Given the description of an element on the screen output the (x, y) to click on. 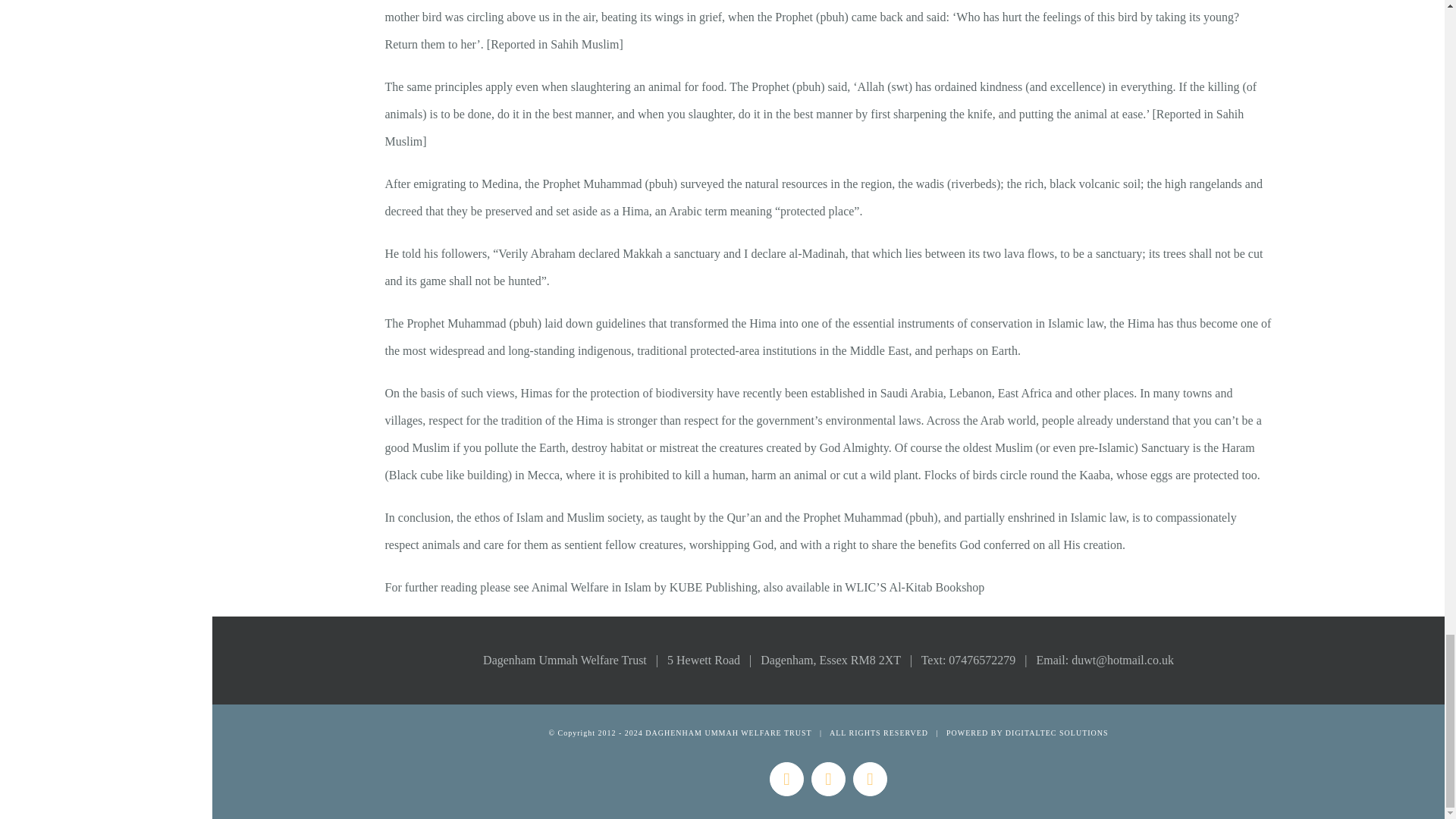
Facebook (786, 779)
X (869, 779)
Instagram (827, 779)
